Given the description of an element on the screen output the (x, y) to click on. 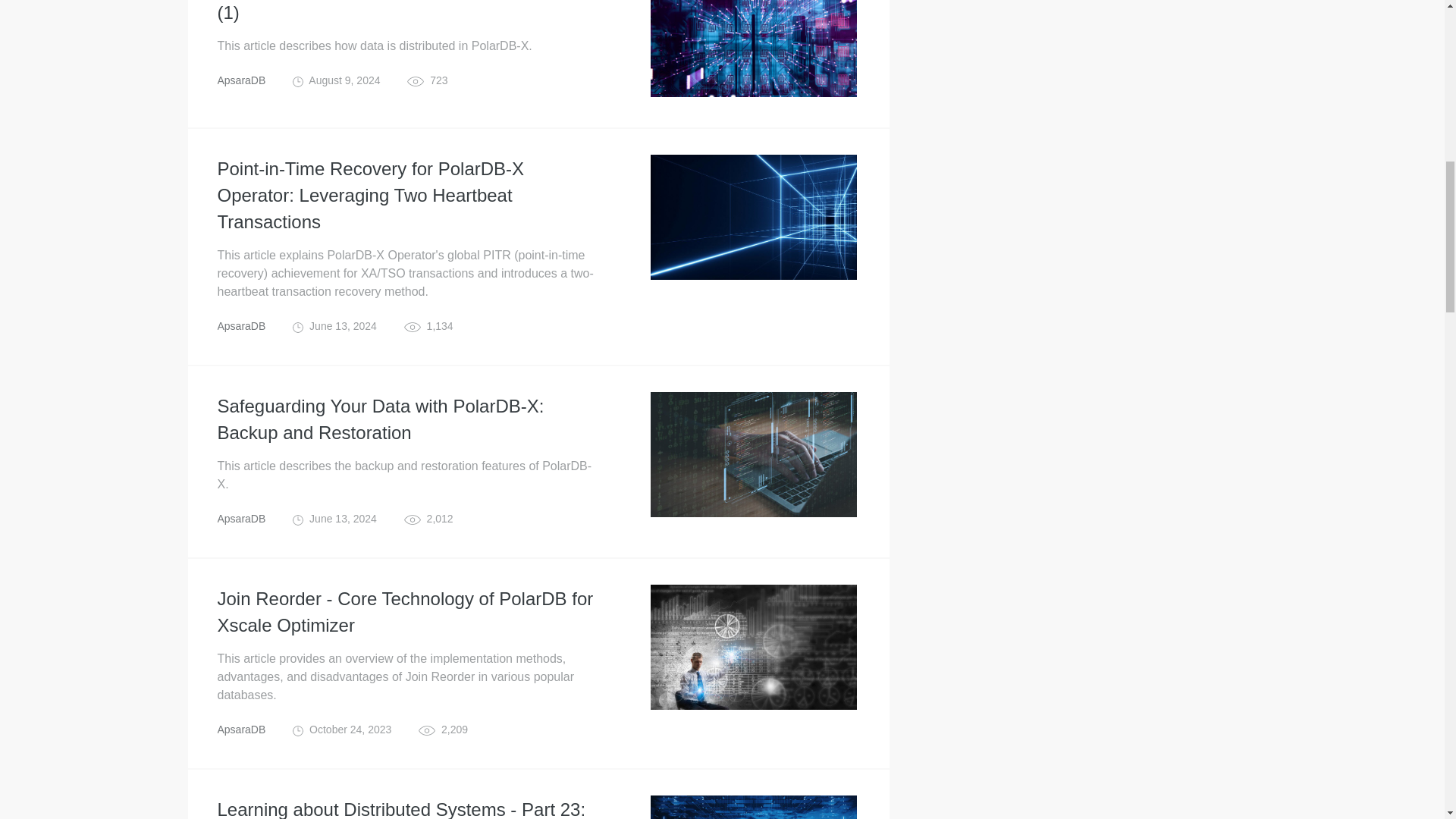
ApsaraDB (240, 518)
ApsaraDB (240, 326)
ApsaraDB (240, 80)
ApsaraDB (240, 729)
